Given the description of an element on the screen output the (x, y) to click on. 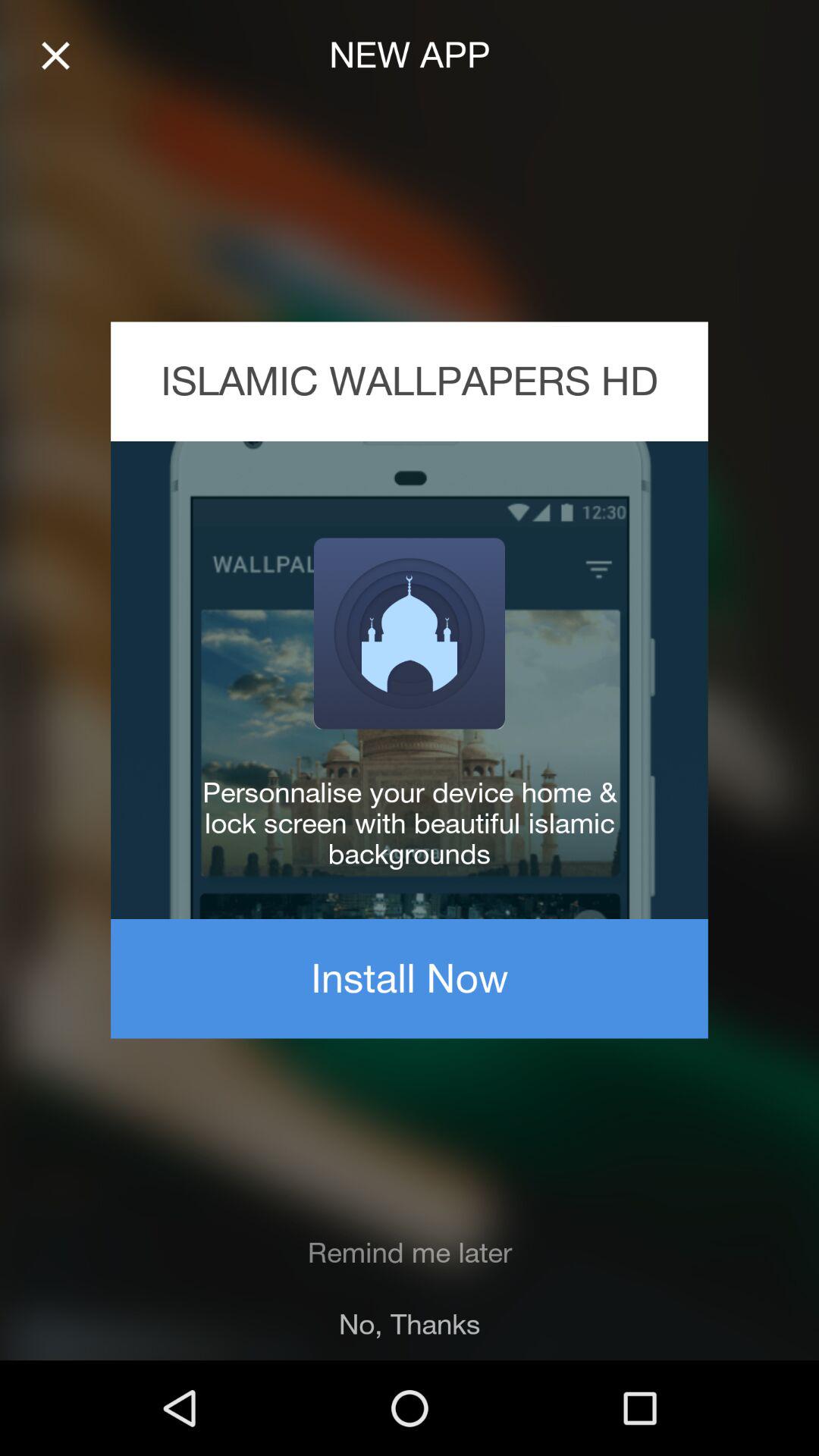
close app (55, 55)
